Given the description of an element on the screen output the (x, y) to click on. 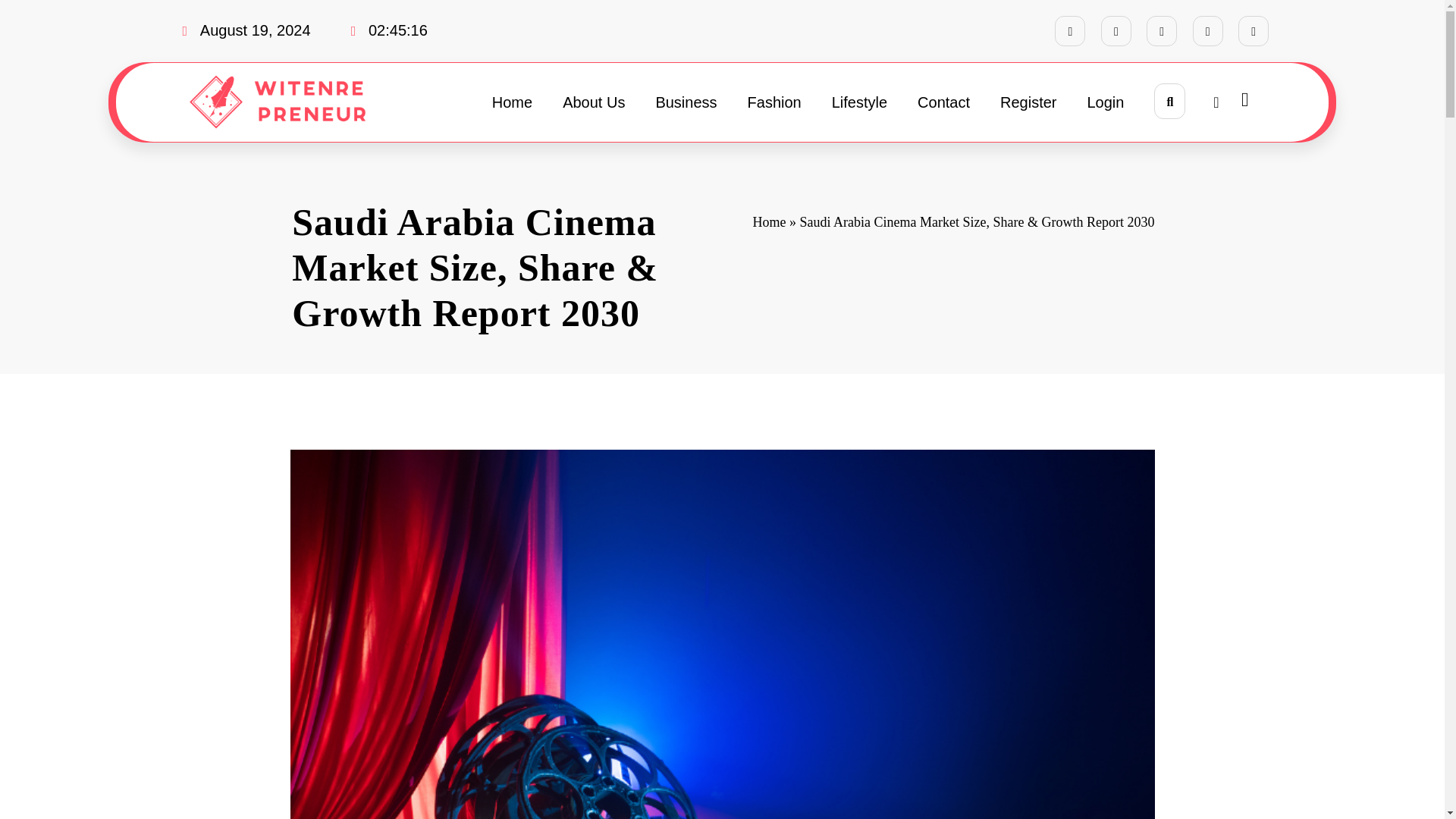
Fashion (774, 101)
Contact (943, 101)
Home (769, 222)
Register (1028, 101)
Home (512, 101)
About Us (593, 101)
Business (686, 101)
Login (1105, 101)
Lifestyle (859, 101)
